Given the description of an element on the screen output the (x, y) to click on. 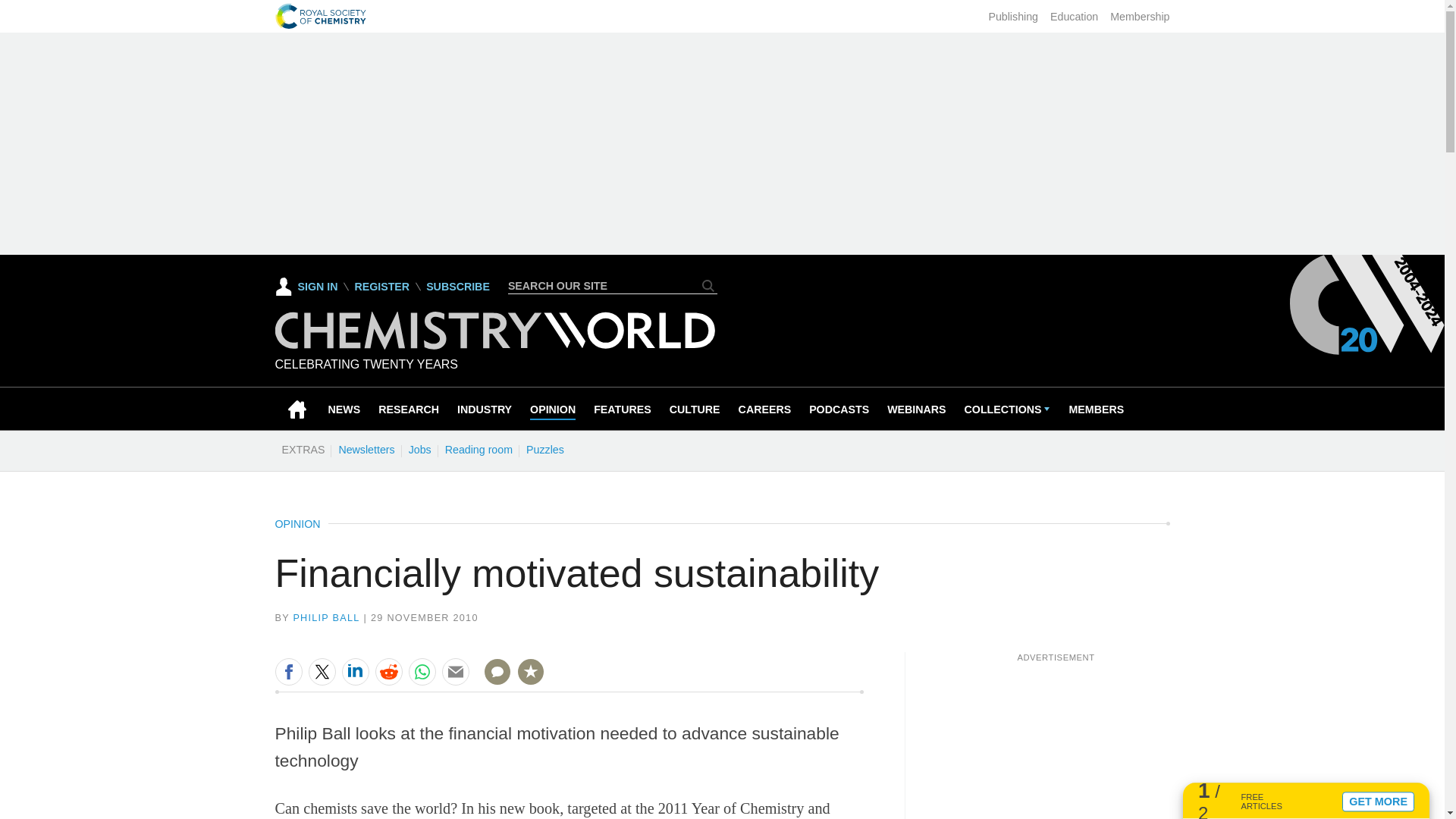
3rd party ad content (1055, 740)
SUBSCRIBE (457, 286)
Reading room (478, 449)
Share this on Reddit (387, 671)
Education (1073, 16)
Membership (1139, 16)
REGISTER (381, 286)
Jobs (419, 449)
Puzzles (544, 449)
Share this on WhatsApp (421, 671)
SEARCH (708, 285)
Share this by email (454, 671)
Chemistry World (494, 345)
SIGN IN (306, 286)
